Given the description of an element on the screen output the (x, y) to click on. 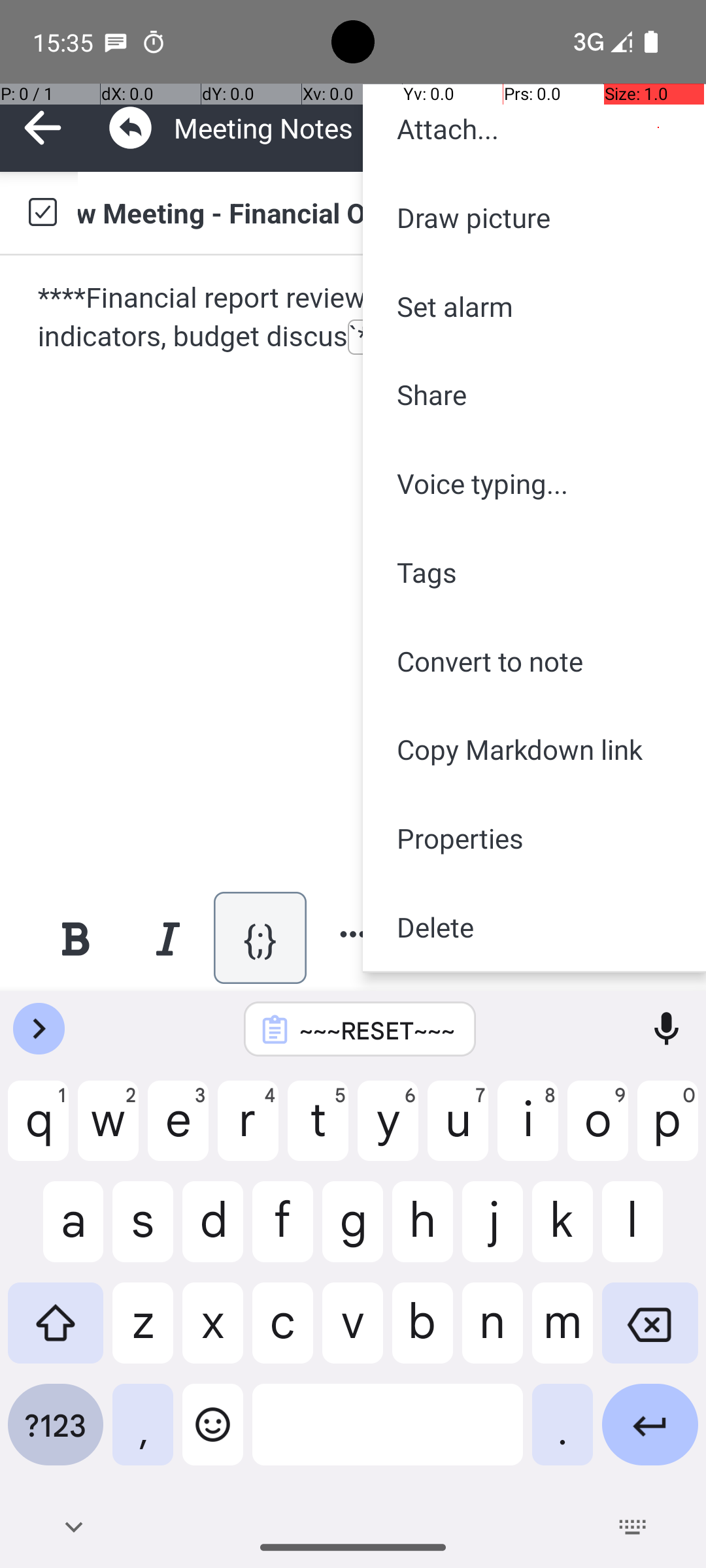
Board Meeting - Q1 Financial RQuarterly Review Meeting - Financial Overview - April 10, 2024esults - March 28, 2024 Element type: android.widget.EditText (378, 212)
****Financial report review, key performance indicators, budget discus`**`sion, future outlook. Element type: android.widget.EditText (354, 317)
